Given the description of an element on the screen output the (x, y) to click on. 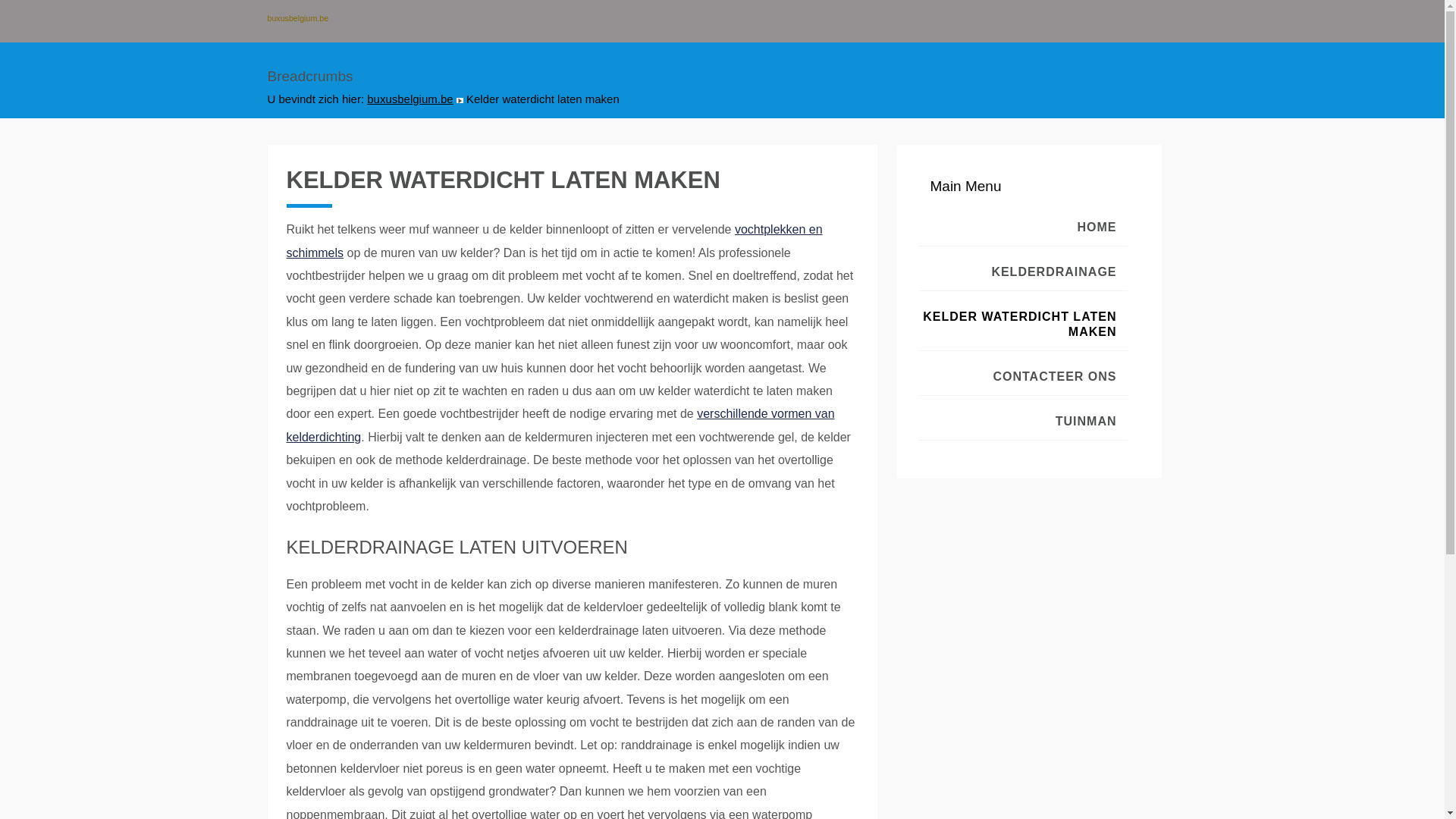
KELDER WATERDICHT LATEN MAKEN Element type: text (1023, 324)
CONTACTEER ONS Element type: text (1023, 376)
verschillende vormen van kelderdichting Element type: text (560, 424)
HOME Element type: text (1023, 227)
TUINMAN Element type: text (1023, 421)
vochtplekken en schimmels Element type: text (554, 240)
buxusbelgium.be Element type: text (306, 18)
KELDERDRAINAGE Element type: text (1023, 272)
buxusbelgium.be Element type: text (409, 98)
